Given the description of an element on the screen output the (x, y) to click on. 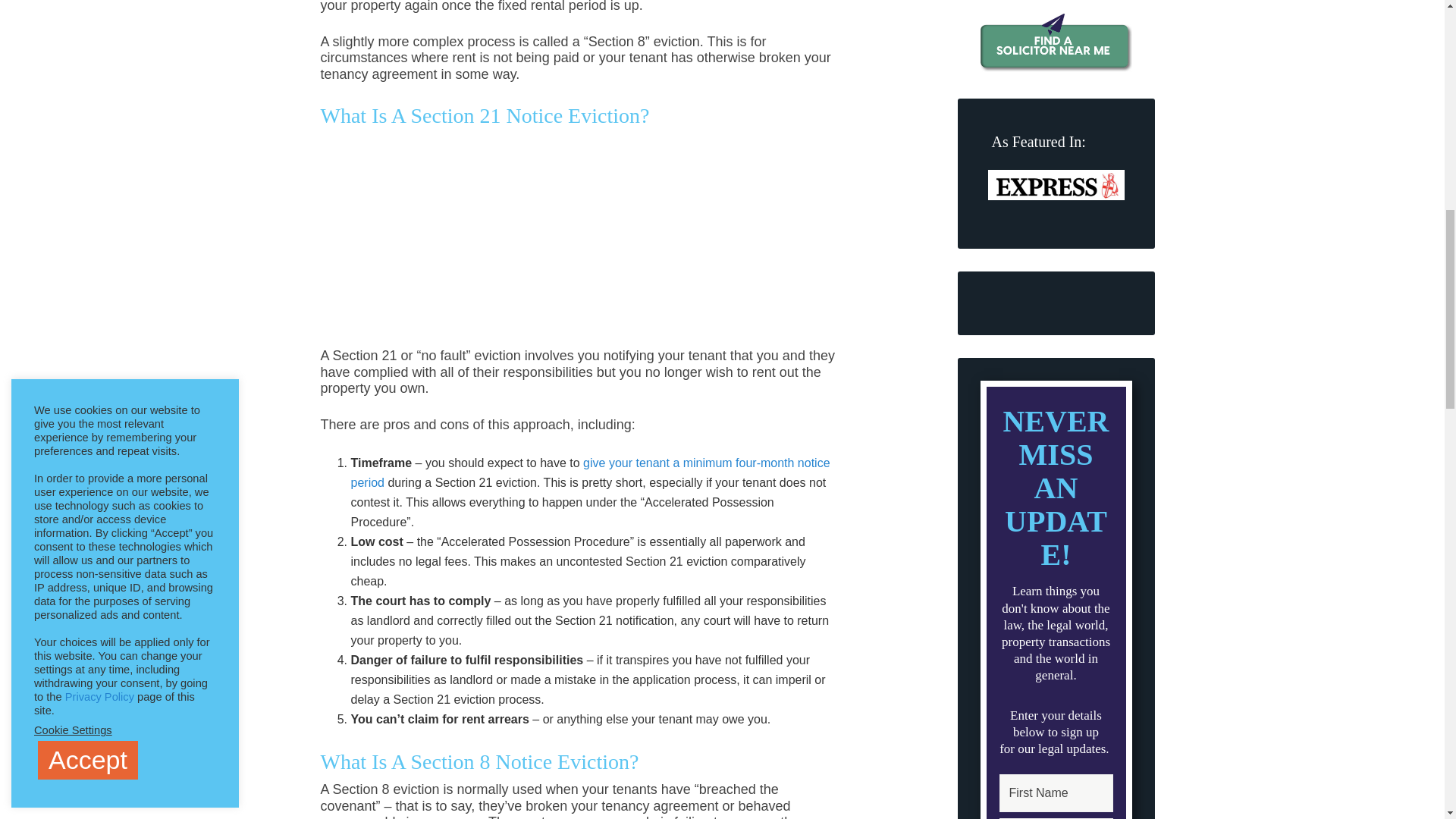
Advertisement (593, 241)
